Given the description of an element on the screen output the (x, y) to click on. 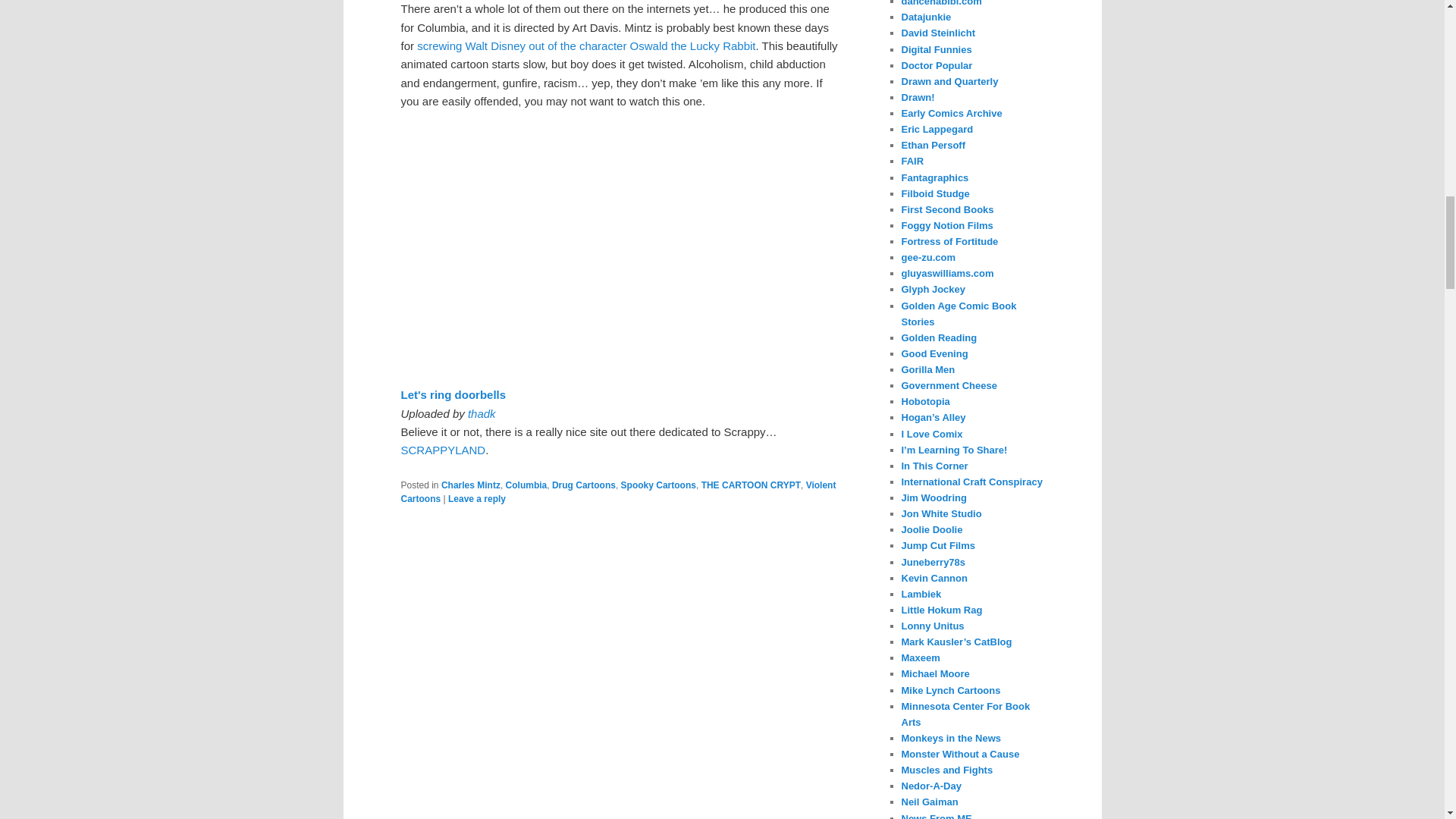
Spooky Cartoons (658, 484)
SCRAPPYLAND (442, 449)
Let's ring doorbells (452, 394)
Charles Mintz (470, 484)
thadk (481, 413)
Columbia (526, 484)
Drug Cartoons (583, 484)
